Given the description of an element on the screen output the (x, y) to click on. 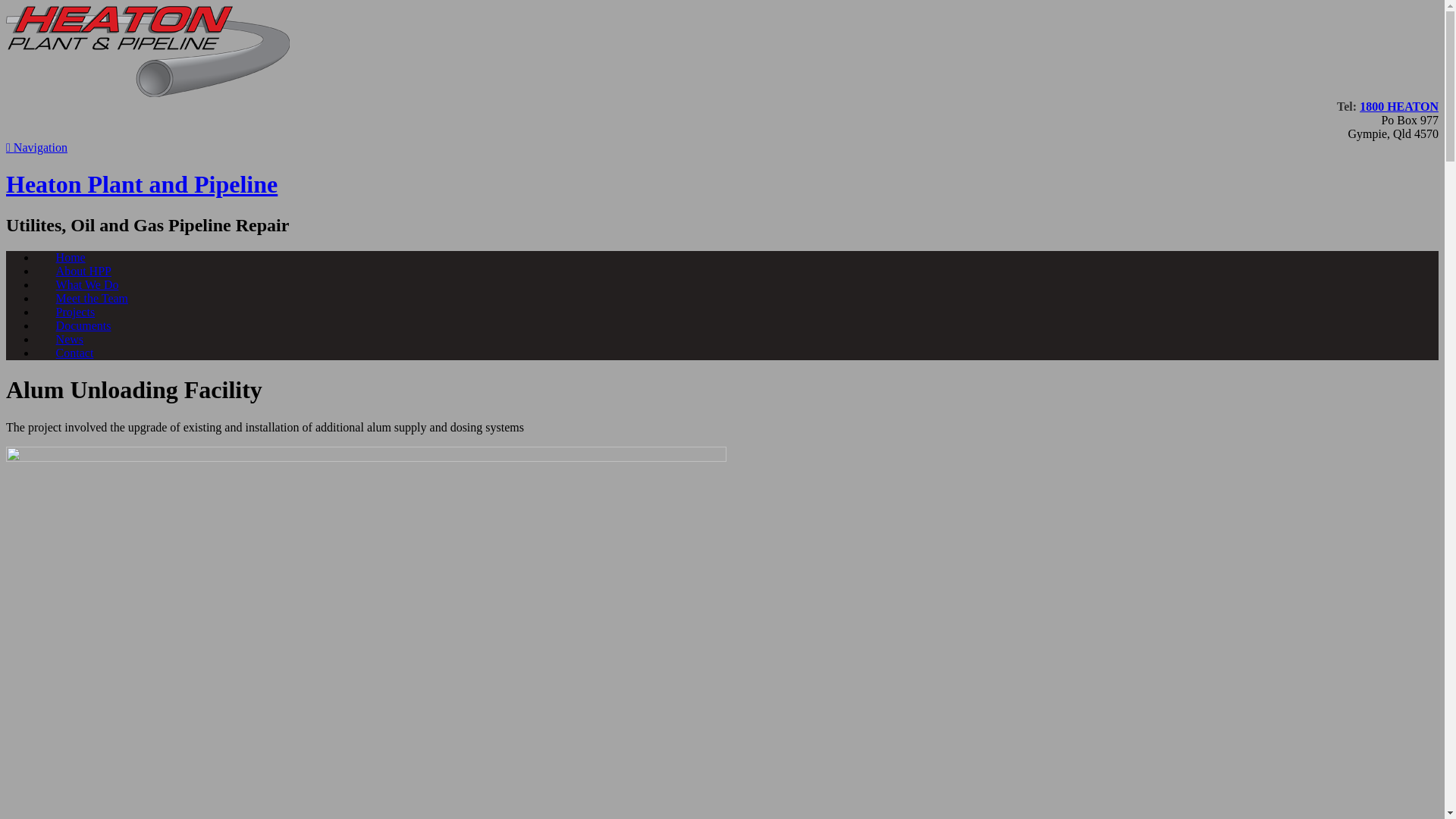
Home Element type: text (70, 257)
Meet the Team Element type: text (91, 298)
Heaton Plant and Pipeline Element type: text (141, 183)
About HPP Element type: text (83, 271)
News Element type: text (69, 339)
1800 HEATON Element type: text (1398, 106)
Documents Element type: text (83, 325)
Projects Element type: text (75, 312)
Utilites, Oil and Gas Pipeline Repair Element type: hover (147, 92)
What We Do Element type: text (87, 284)
Contact Element type: text (74, 352)
chemical-dosing-and-water-treatment1 Element type: hover (366, 457)
